Given the description of an element on the screen output the (x, y) to click on. 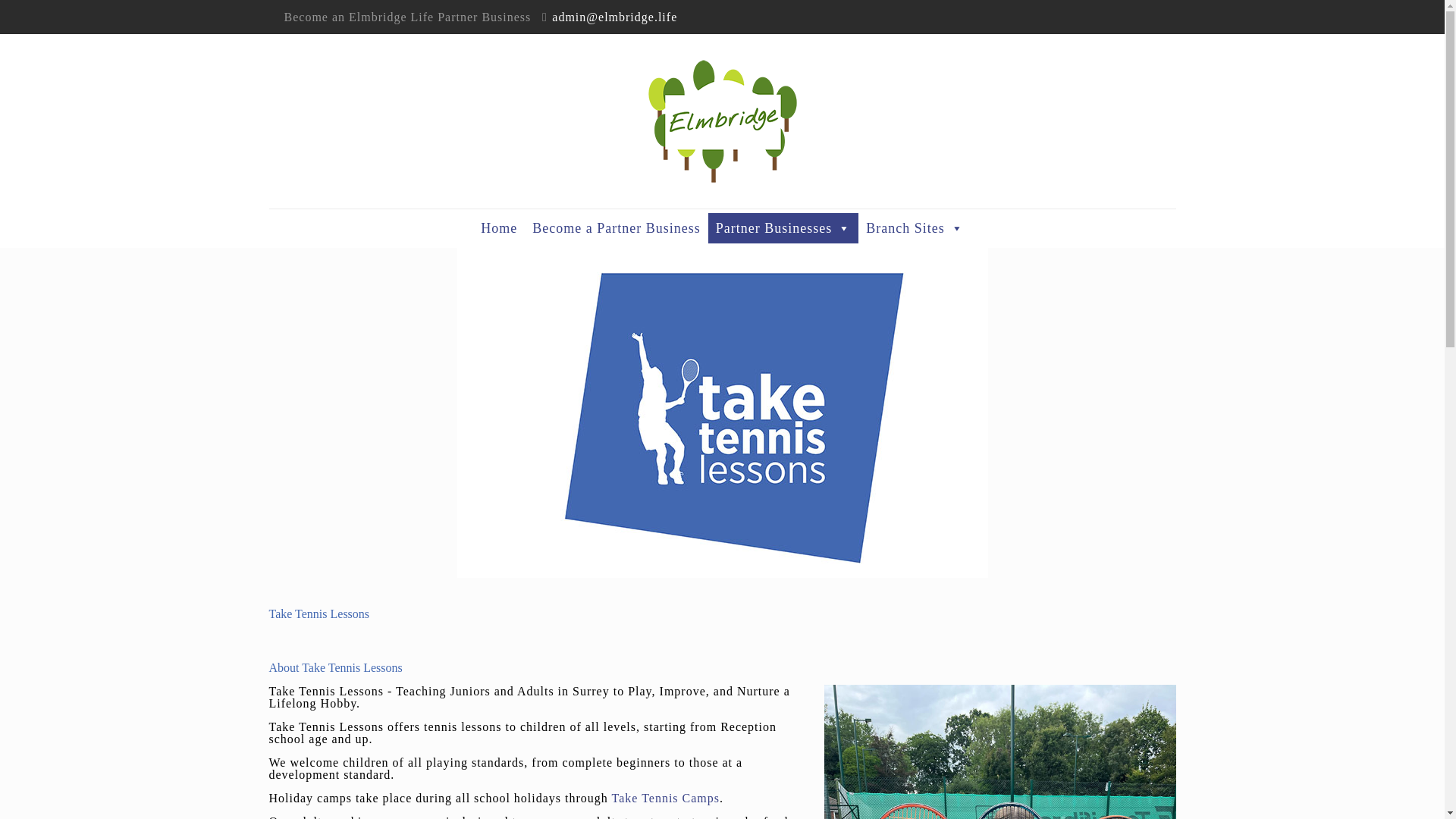
Molesey Life (721, 121)
Partner Businesses (783, 227)
Home (498, 227)
Become a Partner Business (615, 227)
